Given the description of an element on the screen output the (x, y) to click on. 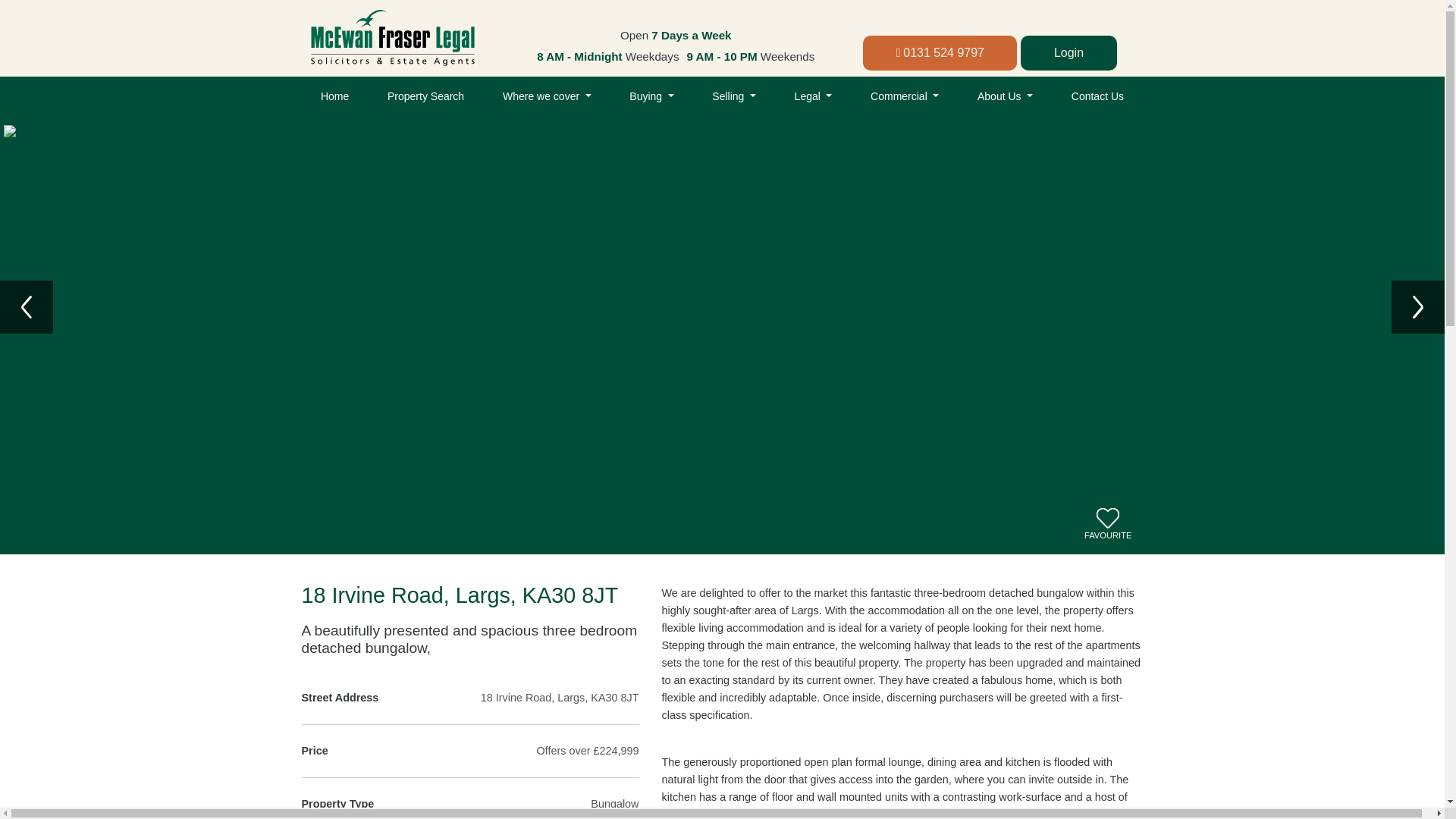
Buying (651, 96)
Property Search (425, 96)
Where we cover (546, 96)
Login (1068, 53)
0131 524 9797 (940, 53)
Home (334, 96)
